Given the description of an element on the screen output the (x, y) to click on. 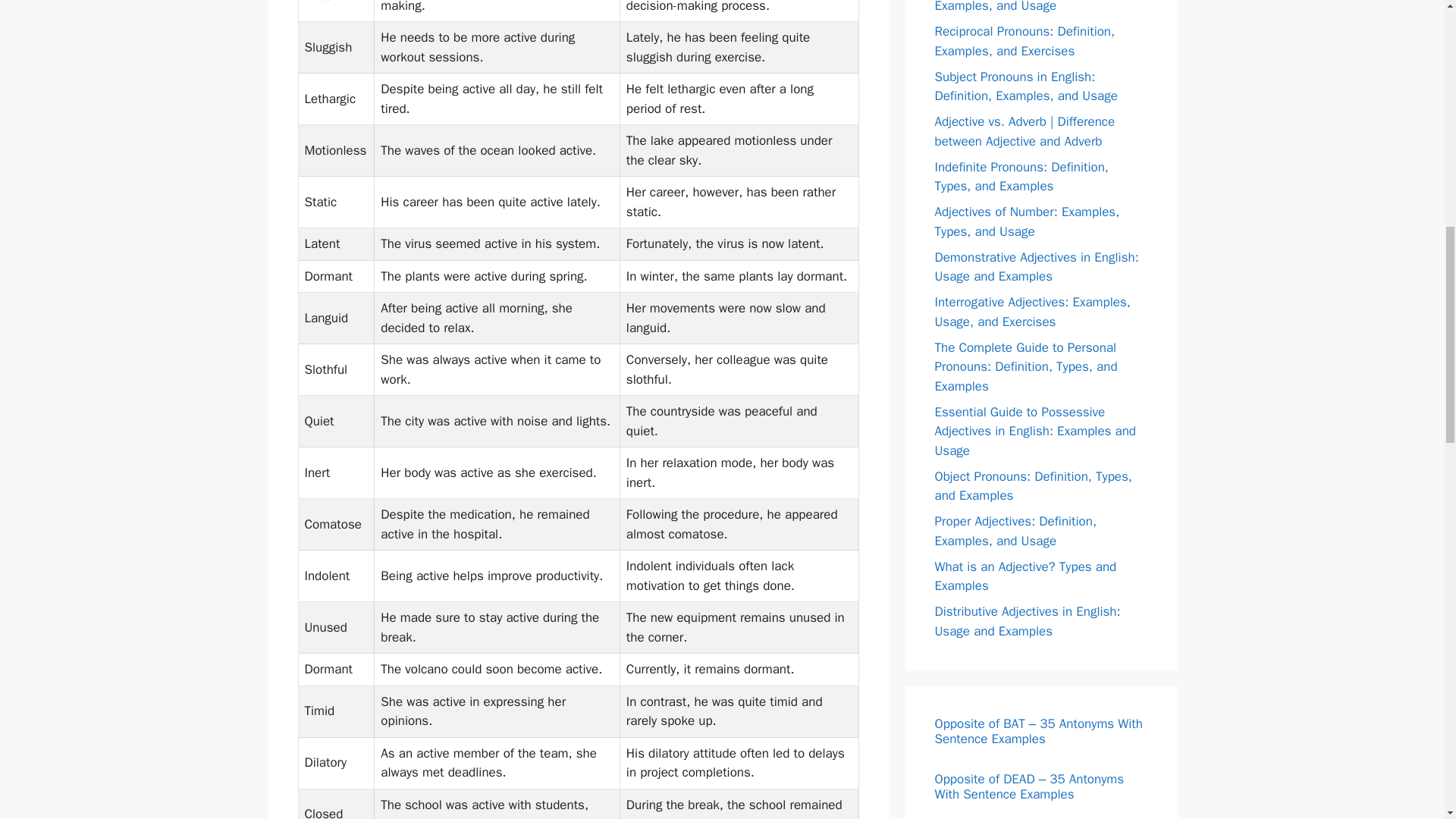
Distributive Adjectives in English: Usage and Examples (1026, 621)
What is an Adjective? Types and Examples (1025, 575)
Indefinite Pronouns: Definition, Types, and Examples (1021, 176)
Adjectives of Number: Examples, Types, and Usage (1026, 221)
Distributive Pronouns: Types, Examples, and Usage (1015, 7)
Demonstrative Adjectives in English: Usage and Examples (1036, 266)
Object Pronouns: Definition, Types, and Examples (1032, 486)
Reciprocal Pronouns: Definition, Examples, and Exercises (1024, 40)
Proper Adjectives: Definition, Examples, and Usage (1015, 530)
Interrogative Adjectives: Examples, Usage, and Exercises (1031, 312)
Subject Pronouns in English: Definition, Examples, and Usage (1025, 85)
